Given the description of an element on the screen output the (x, y) to click on. 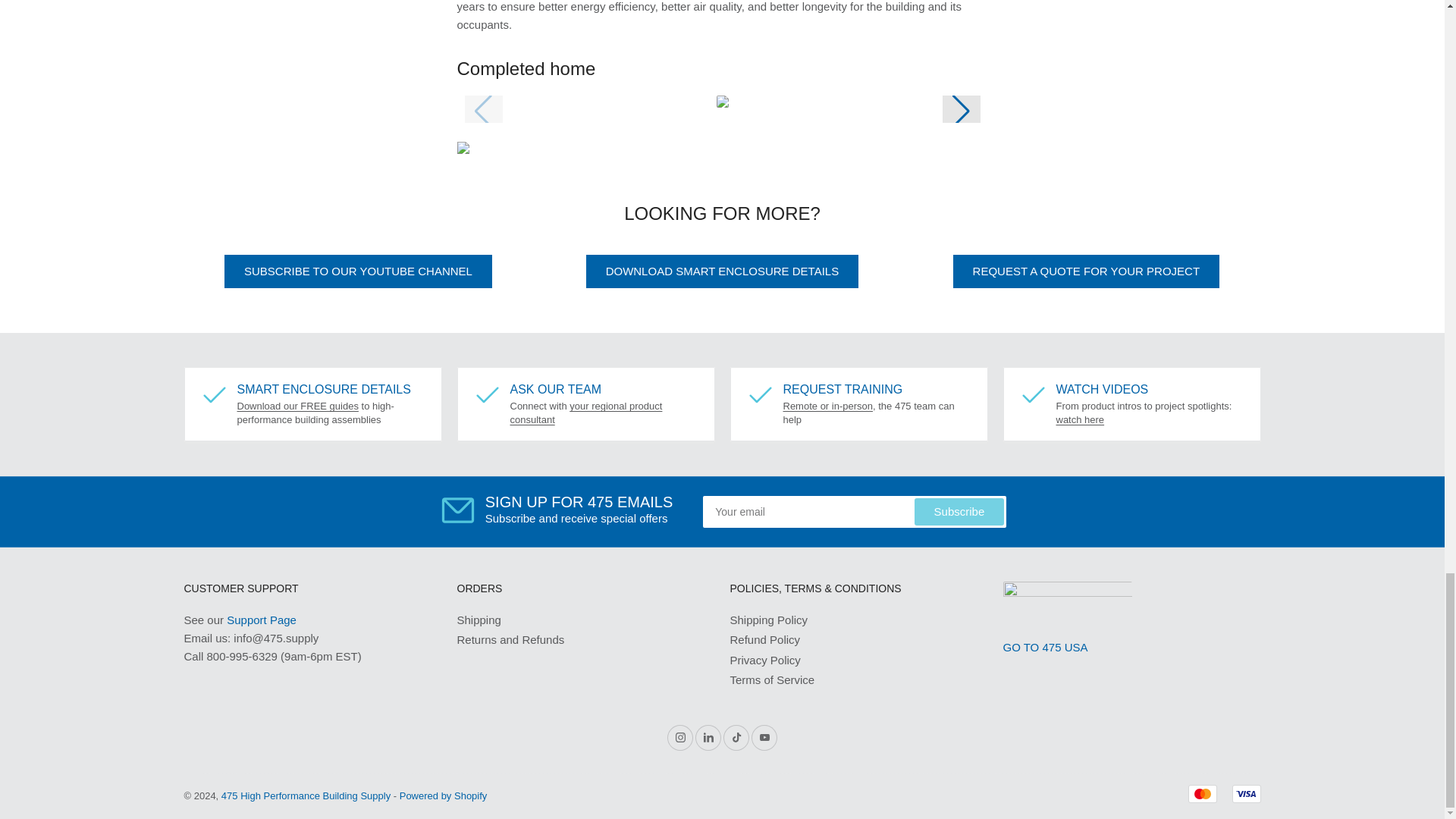
VIDEOS (1079, 419)
Smart Enclosure Introduction (296, 405)
SUPPORT (262, 619)
REQUEST A TRAINING (827, 405)
Contact Us (585, 412)
